Given the description of an element on the screen output the (x, y) to click on. 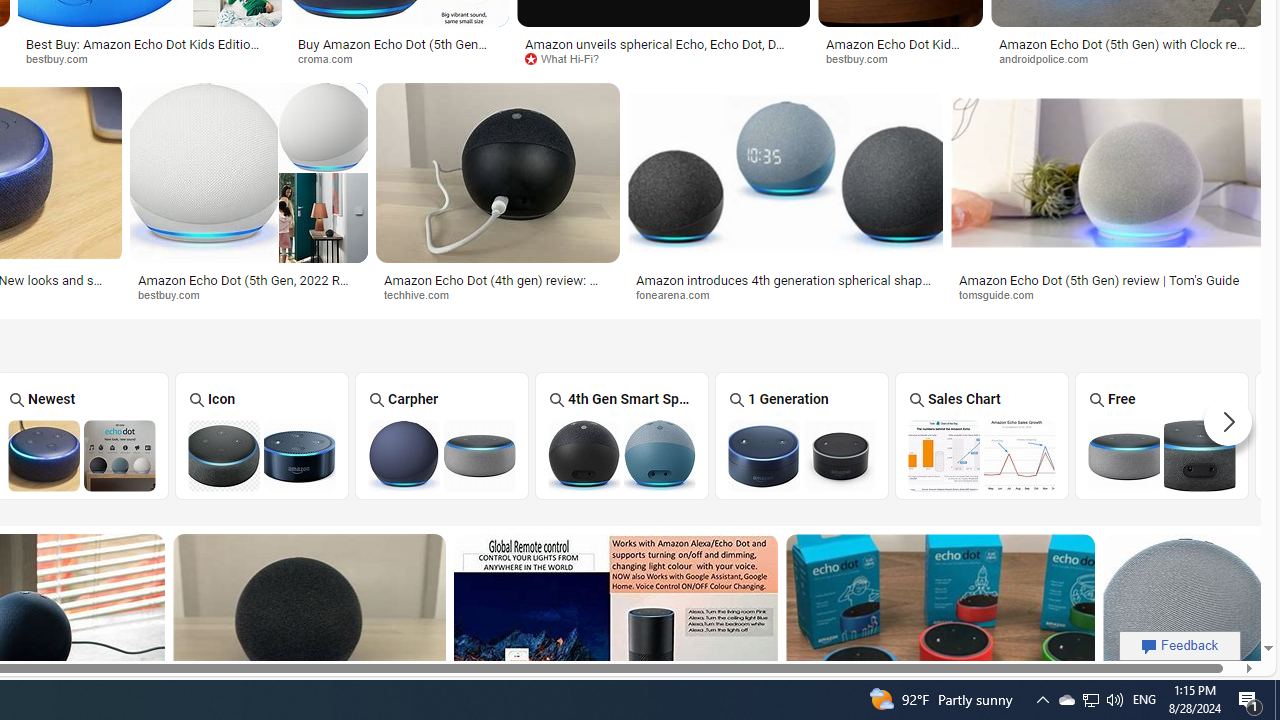
Carpher (441, 435)
Amazon Echo Dot Carpher (441, 455)
Image result for Amazon Echo Dot Colors (1184, 623)
Free Amazon Echo Dot Free (1162, 435)
fonearena.com (680, 294)
What Hi-Fi? (569, 57)
4th Gen Smart Speaker Alexa (621, 435)
Amazon Echo Dot Sales Chart Sales Chart (981, 435)
croma.com (399, 58)
Amazon Echo Dot Icon (262, 455)
bestbuy.com (248, 295)
